Given the description of an element on the screen output the (x, y) to click on. 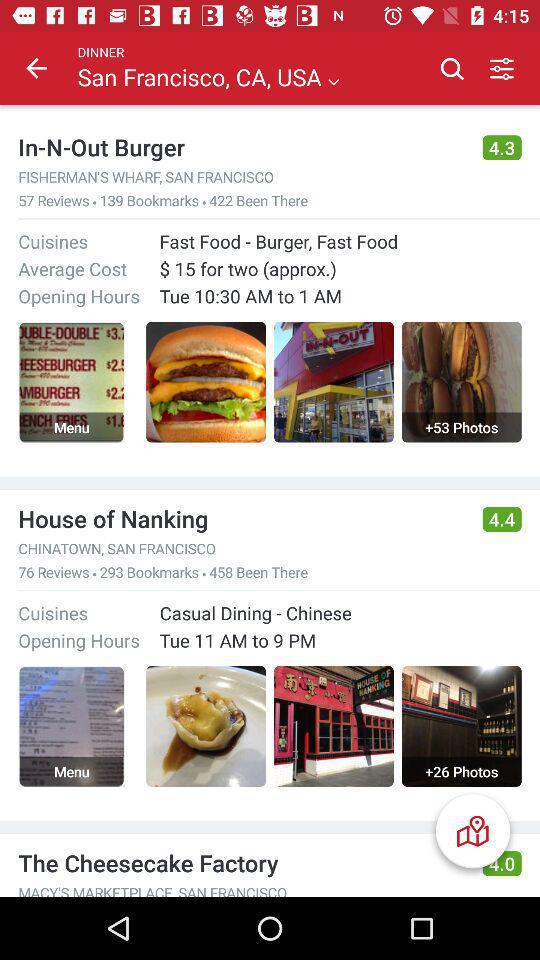
choose item to the left of dinner (36, 68)
